Given the description of an element on the screen output the (x, y) to click on. 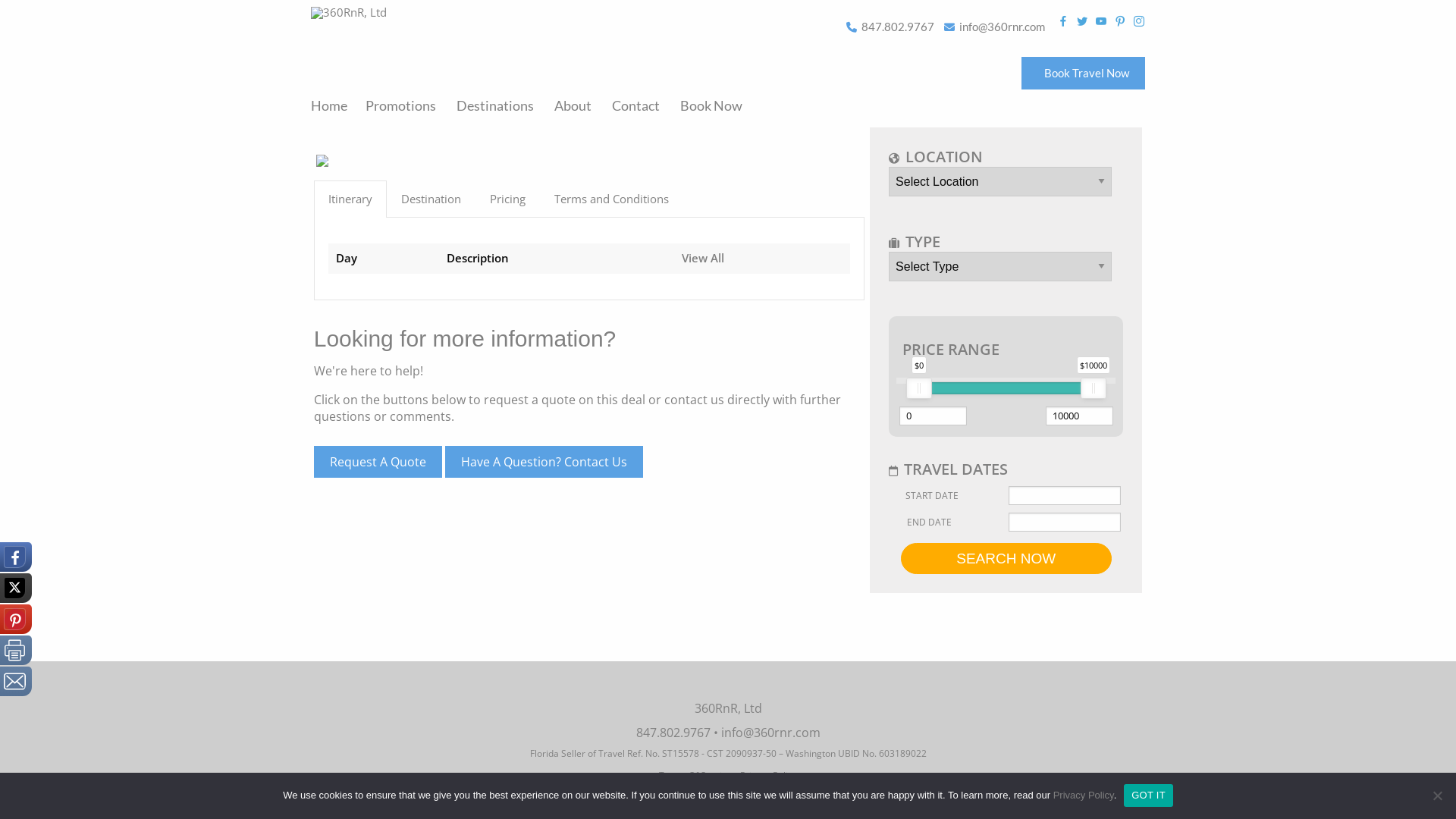
Itinerary Element type: text (349, 198)
847.802.9767 Element type: text (672, 732)
About Element type: text (572, 105)
Request A Quote Element type: text (377, 461)
Destination Element type: text (430, 198)
Book Travel Now Element type: text (1083, 72)
Pricing Element type: text (507, 198)
847.802.9767 Element type: text (897, 26)
Home Element type: text (333, 105)
Terms Of Service Element type: text (694, 774)
360RnR, Ltd Element type: hover (348, 12)
Destinations Element type: text (494, 105)
SEARCH NOW Element type: text (1005, 558)
View All Element type: text (702, 257)
Promotions Element type: text (400, 105)
Book Now Element type: text (711, 105)
Privacy Policy Element type: text (768, 774)
info@360rnr.com Element type: text (1001, 26)
Terms and Conditions Element type: text (611, 198)
Privacy Policy Element type: text (1083, 794)
Contact Element type: text (635, 105)
info@360rnr.com Element type: text (769, 732)
Have A Question? Contact Us Element type: text (544, 461)
No Element type: hover (1436, 795)
GOT IT Element type: text (1148, 795)
